Given the description of an element on the screen output the (x, y) to click on. 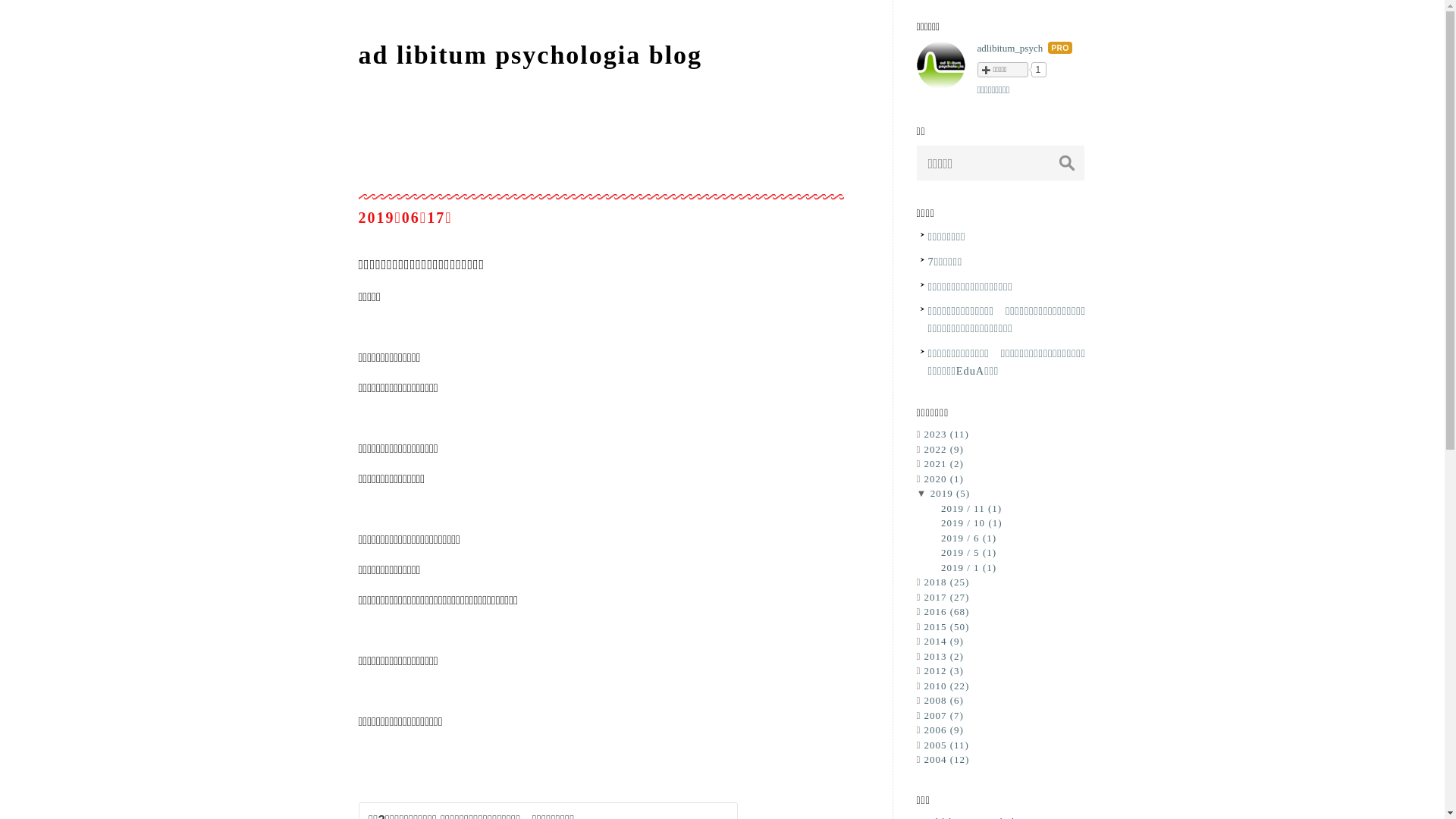
2014 (9) Element type: text (943, 640)
2023 (11) Element type: text (945, 433)
2006 (9) Element type: text (943, 729)
adlibitum_psych Element type: text (1009, 47)
2022 (9) Element type: text (943, 449)
2019 / 6 (1) Element type: text (968, 537)
2021 (2) Element type: text (943, 463)
2018 (25) Element type: text (946, 581)
2019 / 1 (1) Element type: text (968, 567)
2019 (5) Element type: text (949, 492)
2012 (3) Element type: text (943, 670)
2016 (68) Element type: text (946, 611)
2019 / 11 (1) Element type: text (971, 508)
2005 (11) Element type: text (945, 744)
2010 (22) Element type: text (946, 685)
2013 (2) Element type: text (943, 656)
20190617 Element type: text (404, 217)
2004 (12) Element type: text (946, 759)
2019 / 5 (1) Element type: text (968, 552)
2019 / 10 (1) Element type: text (971, 522)
2007 (7) Element type: text (943, 715)
2017 (27) Element type: text (946, 596)
2020 (1) Element type: text (943, 478)
ad libitum psychologia blog Element type: text (529, 54)
2008 (6) Element type: text (943, 700)
2015 (50) Element type: text (946, 626)
